Given the description of an element on the screen output the (x, y) to click on. 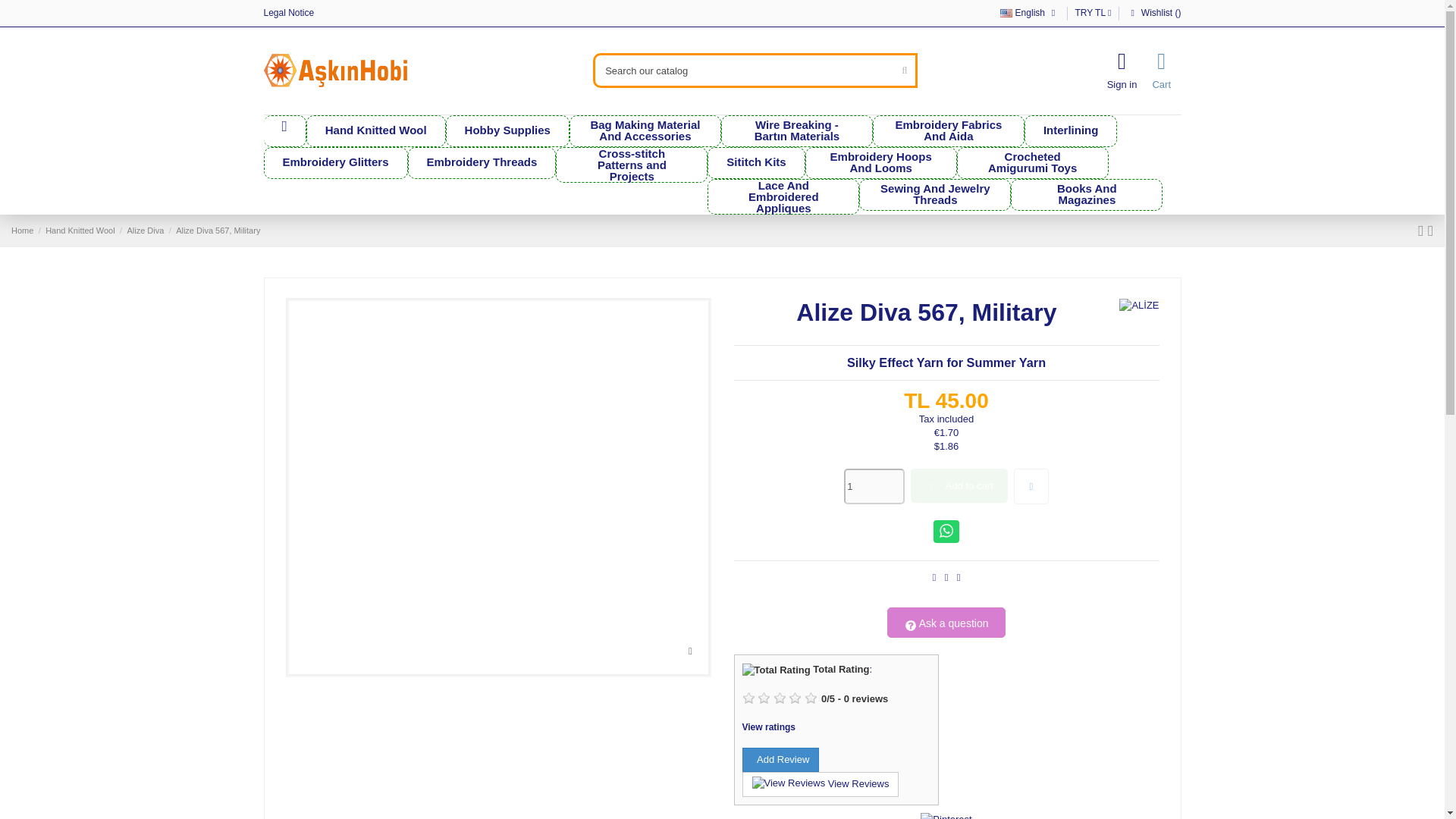
Cross-stitch Patterns and Projects (631, 164)
Sititch Kits (756, 163)
TRY TL (1092, 12)
Interlining (1070, 131)
Embroidery Glitters (335, 163)
Hand Knitted Wool (375, 131)
Embroidery Threads (481, 163)
Bag Making Material And Accessories (644, 131)
Crocheted Amigurumi Toys (1032, 163)
Books And Magazines (1085, 194)
Add to wishlist (1030, 486)
1 (874, 486)
Legal Notice (288, 12)
Hobby Supplies (507, 131)
